Given the description of an element on the screen output the (x, y) to click on. 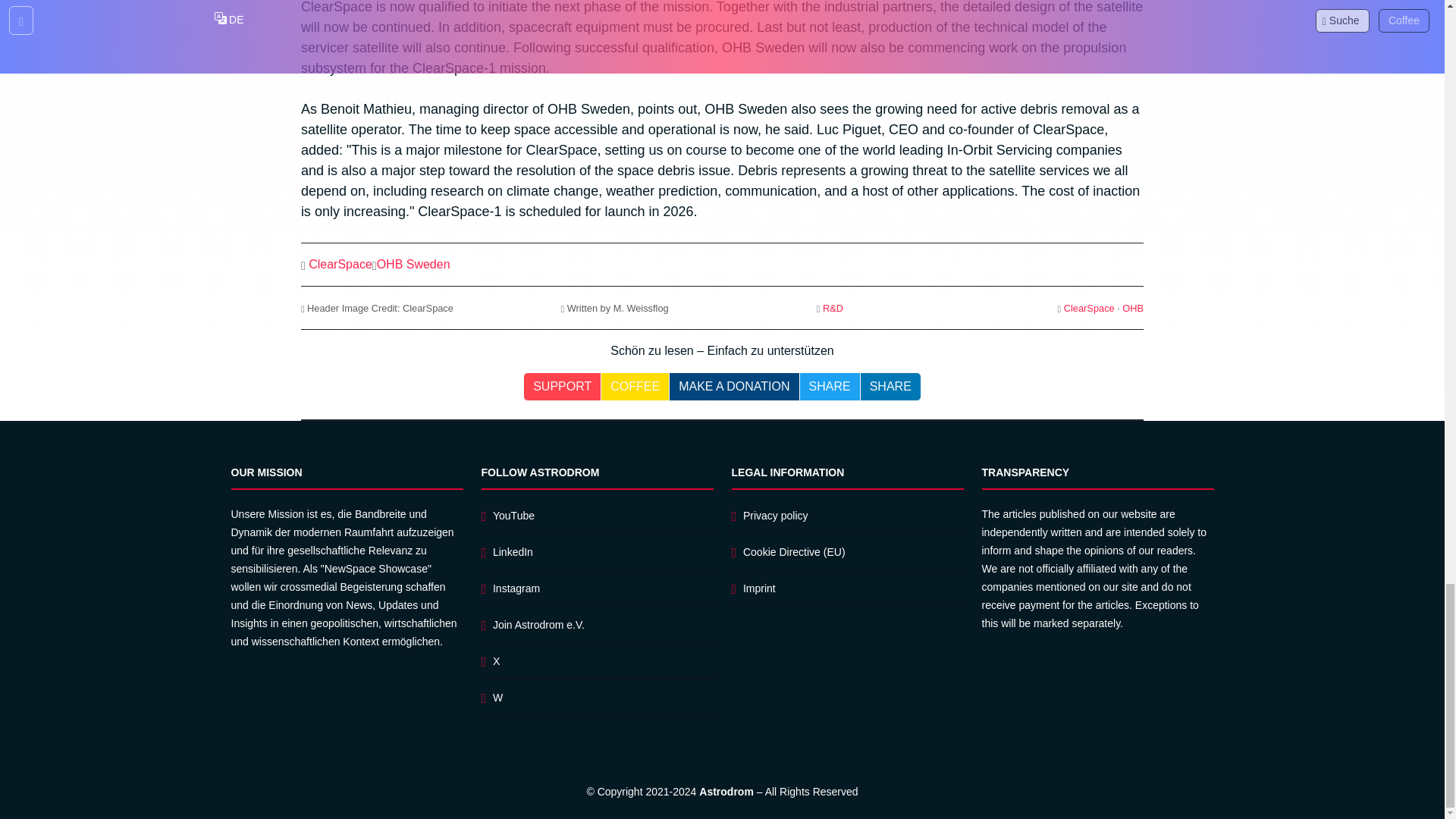
MAKE A DONATION (733, 386)
OHB (1132, 307)
SUPPORT (561, 386)
View all posts in ClearSpace (1089, 307)
Instagram (516, 588)
SHARE (829, 386)
ClearSpace (1089, 307)
View all posts in OHB (1132, 307)
ClearSpace (340, 264)
SHARE (890, 386)
